Given the description of an element on the screen output the (x, y) to click on. 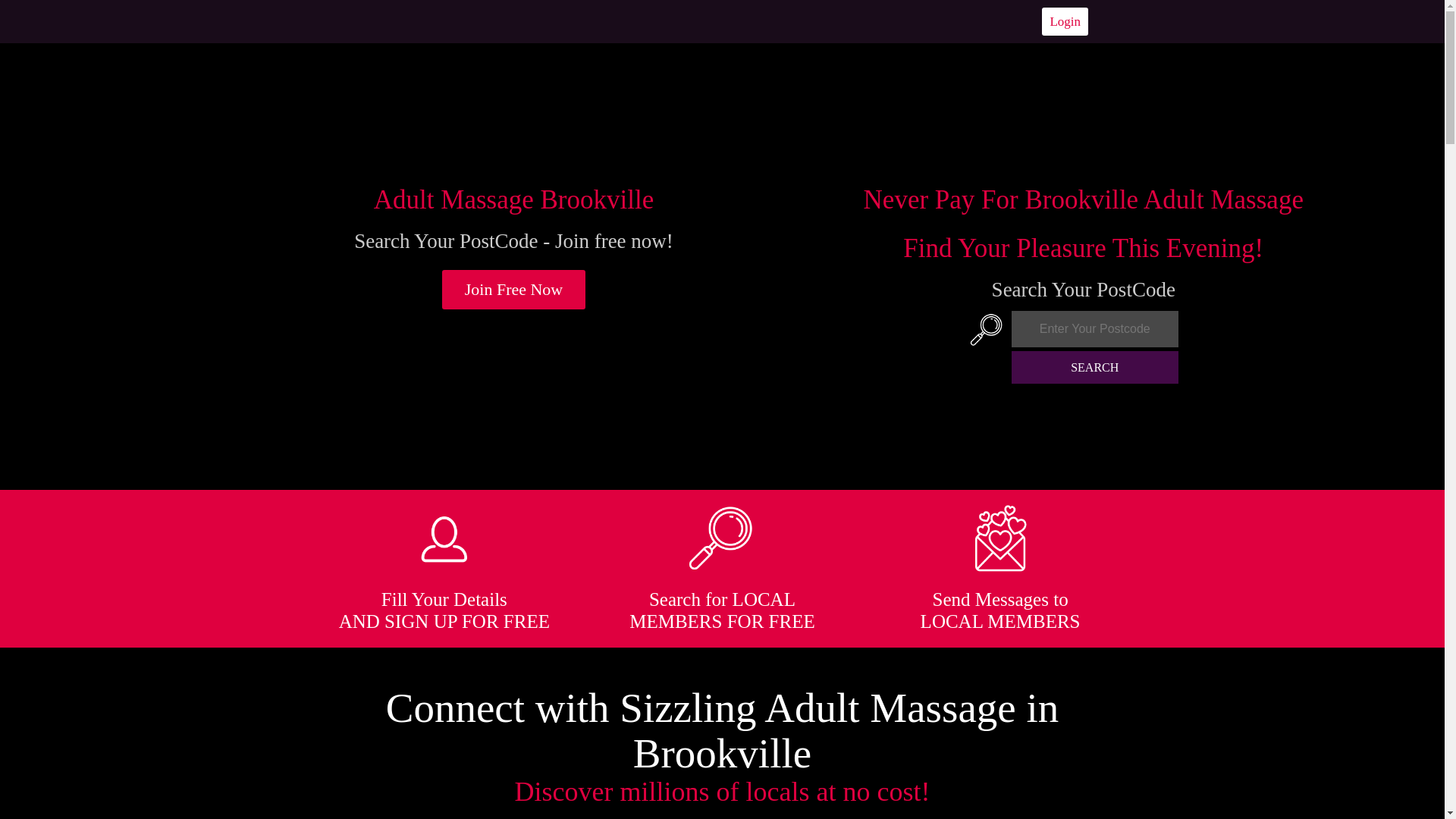
SEARCH (1094, 367)
Join (514, 289)
Login (1064, 21)
Login (1064, 21)
Join Free Now (514, 289)
